Given the description of an element on the screen output the (x, y) to click on. 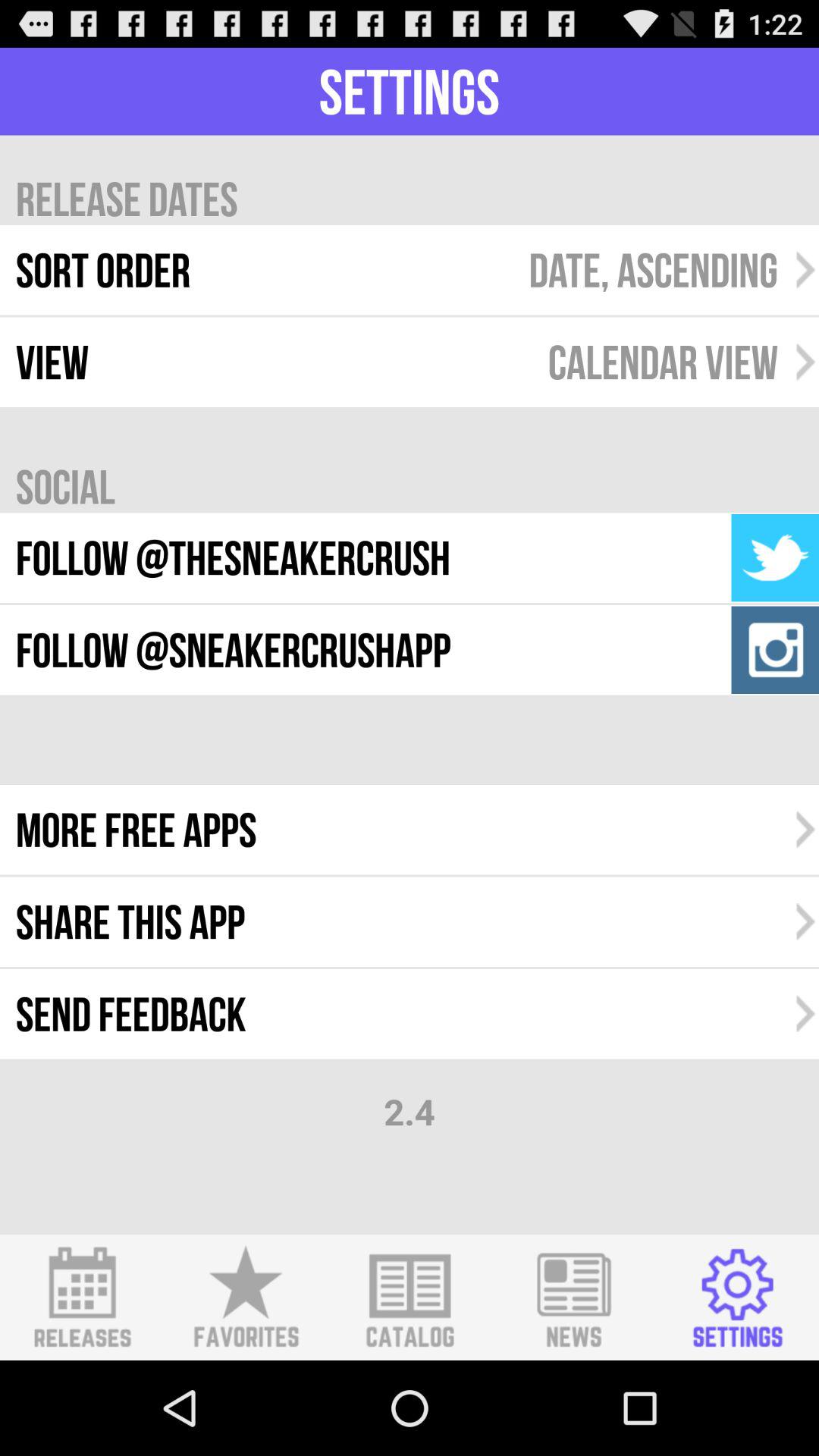
settings (737, 1297)
